Given the description of an element on the screen output the (x, y) to click on. 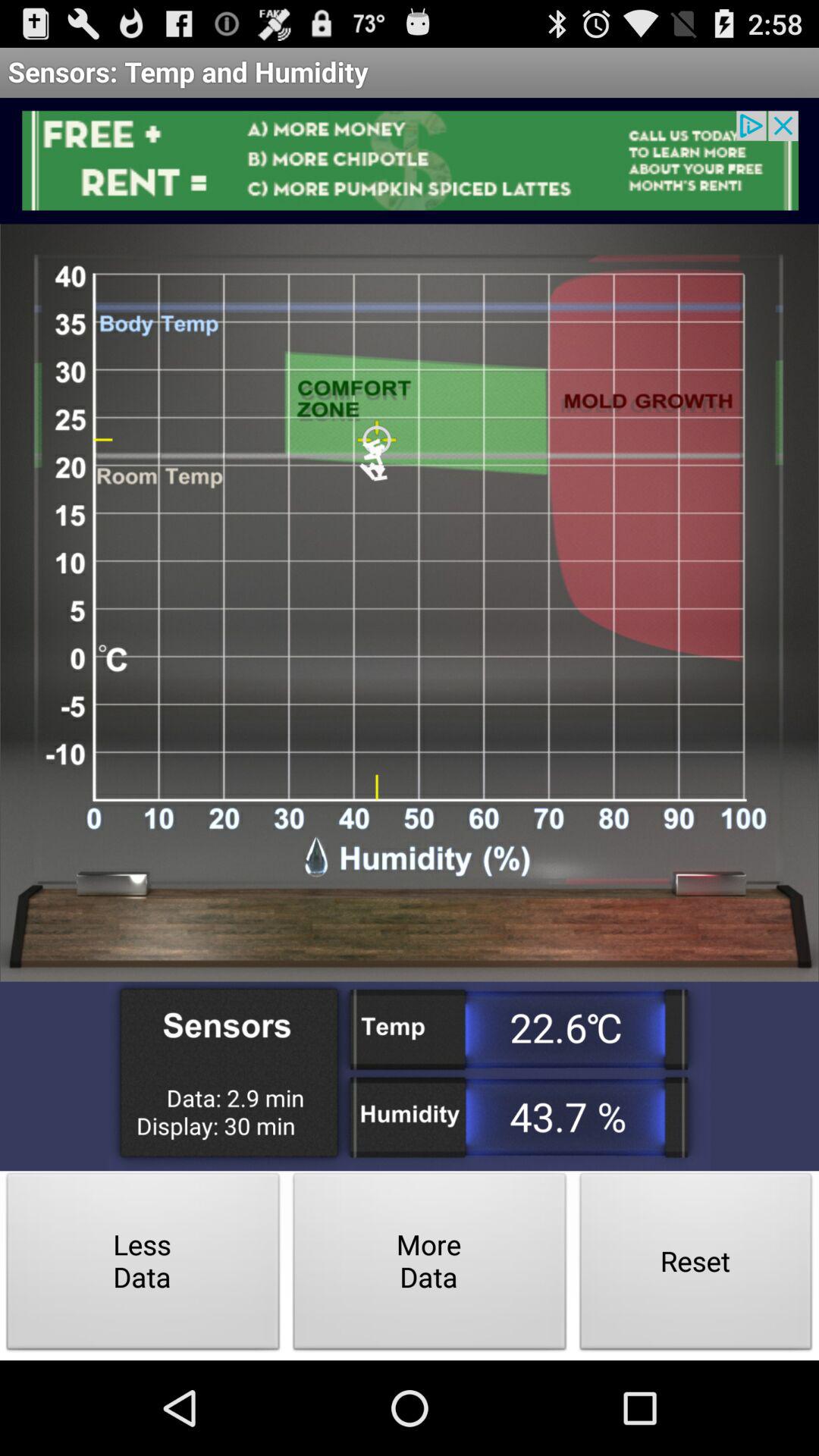
press the item to the left of reset item (429, 1265)
